Given the description of an element on the screen output the (x, y) to click on. 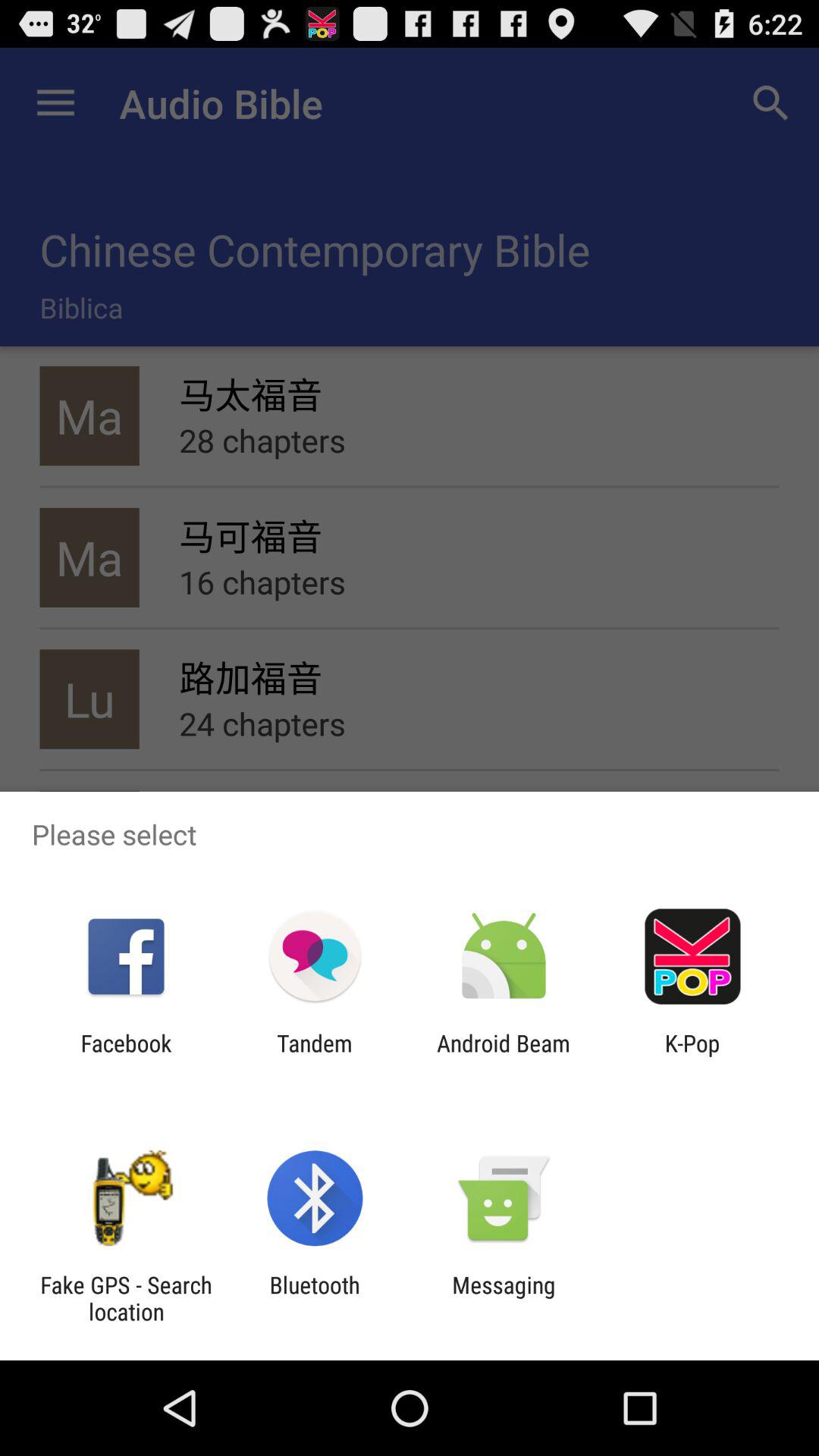
press facebook (125, 1056)
